Given the description of an element on the screen output the (x, y) to click on. 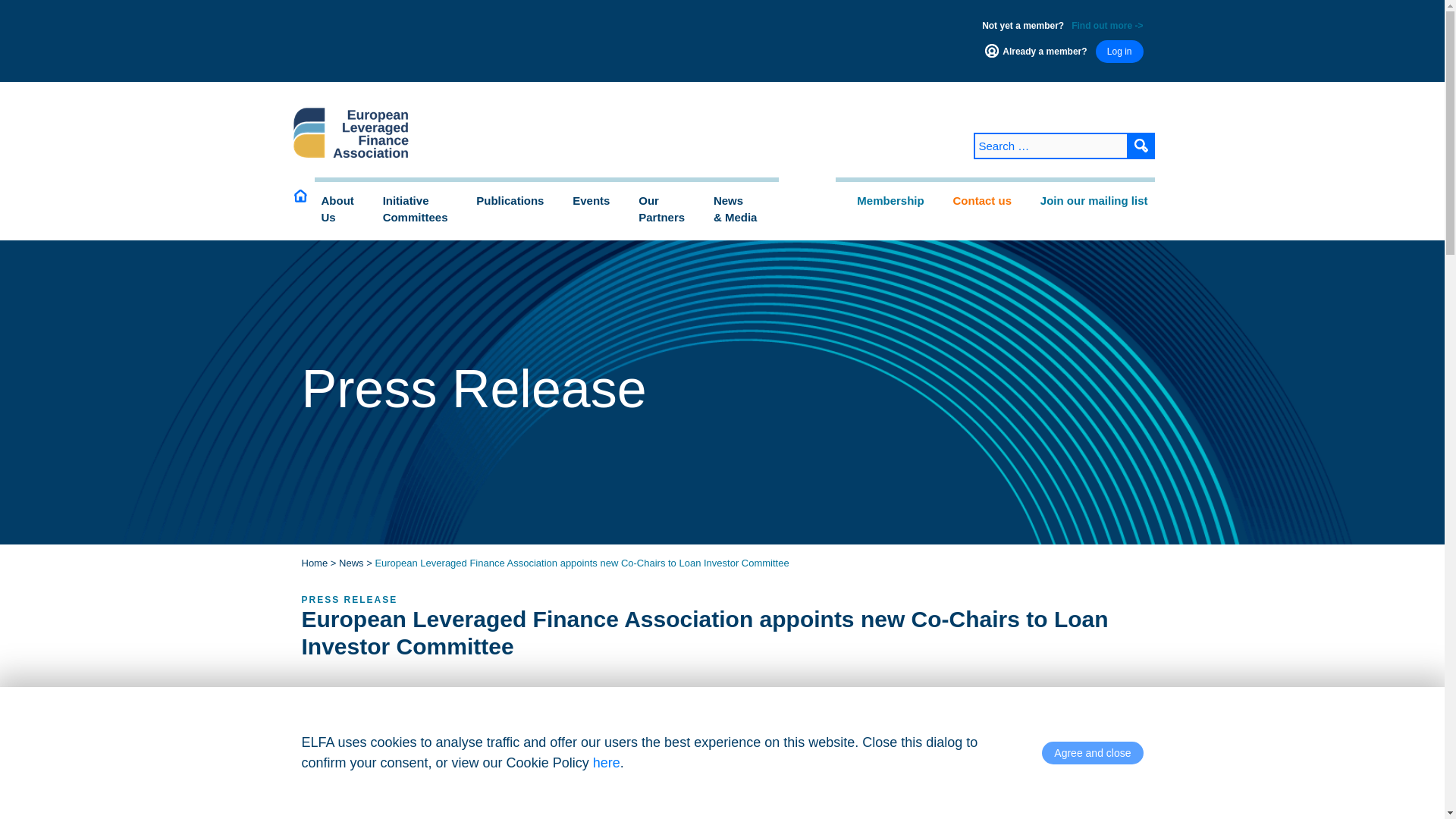
Initiative Committees (422, 209)
Log in (668, 209)
Search (1119, 51)
AboutUs (422, 209)
Search (1141, 145)
Search (344, 209)
Publications (1141, 145)
Publications (1141, 145)
Events (344, 209)
